Given the description of an element on the screen output the (x, y) to click on. 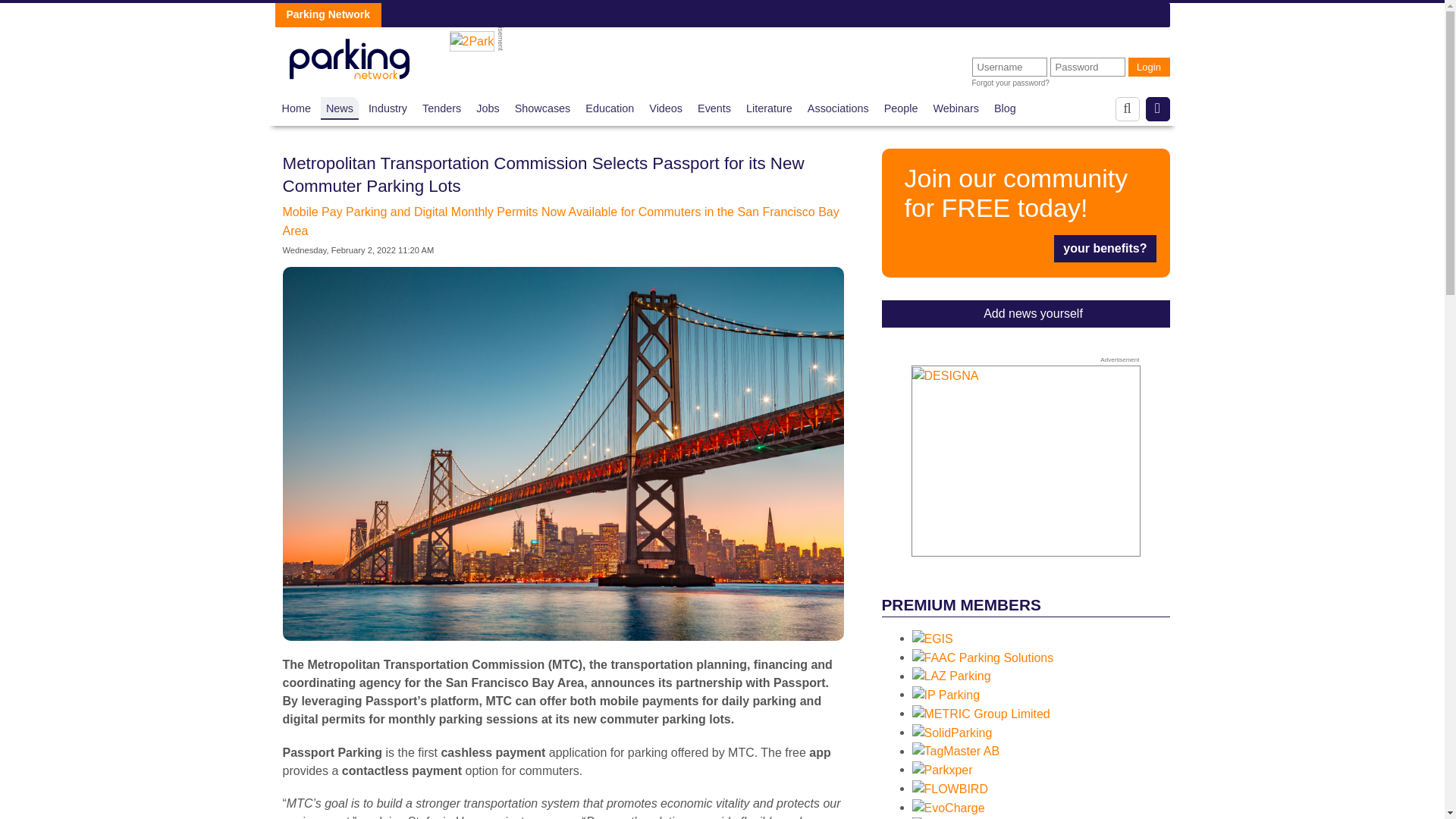
Literature (768, 108)
Jobs (487, 108)
Webinars (955, 108)
Events (713, 108)
Blog (1005, 108)
Associations (838, 108)
Parking Network (349, 54)
Videos (665, 108)
People (900, 108)
Register here (1024, 212)
Tenders (441, 108)
Reset your password (1010, 83)
Login (1149, 66)
News (339, 108)
Home (296, 108)
